Given the description of an element on the screen output the (x, y) to click on. 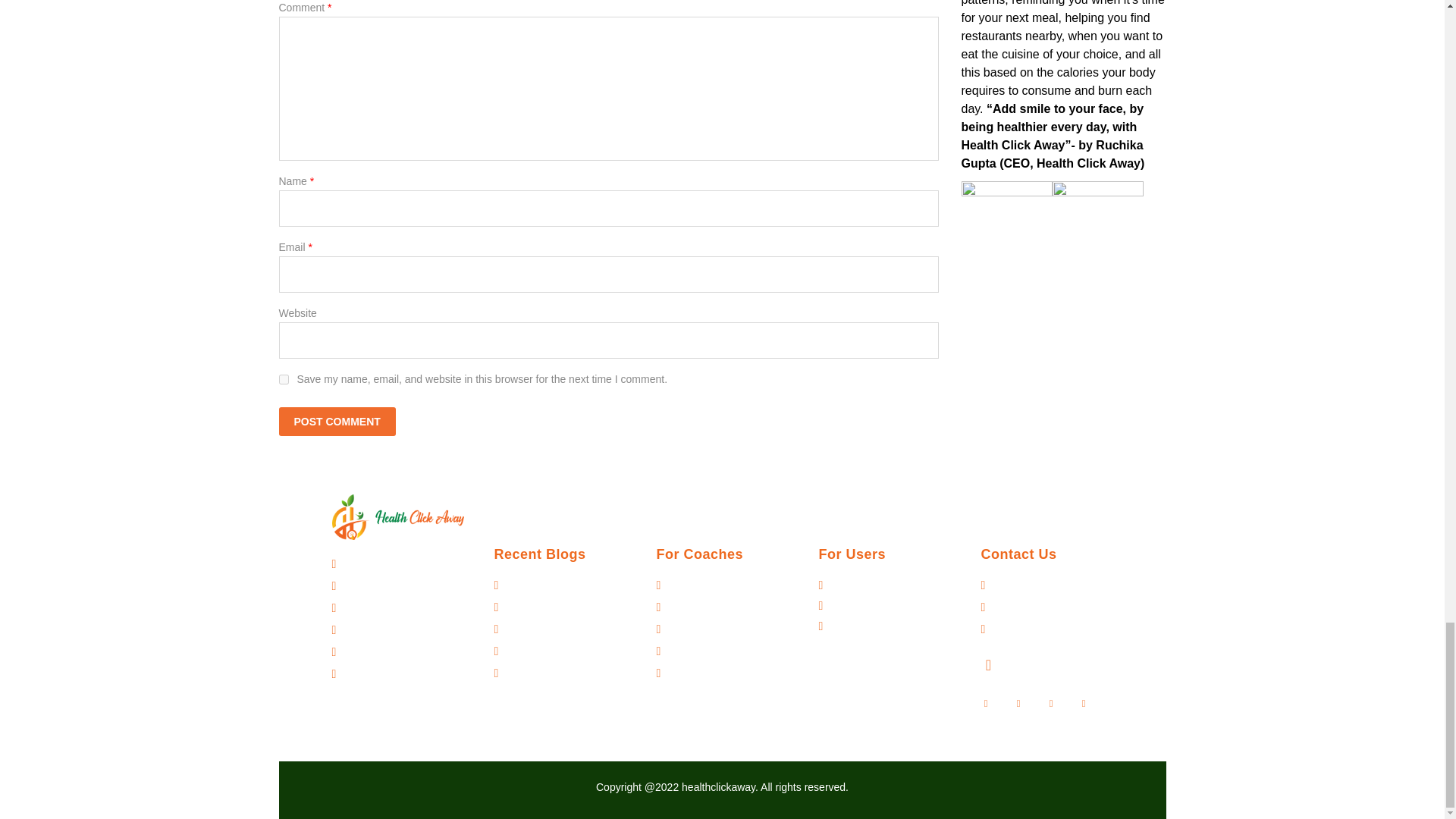
yes (283, 379)
Post Comment (337, 421)
